Given the description of an element on the screen output the (x, y) to click on. 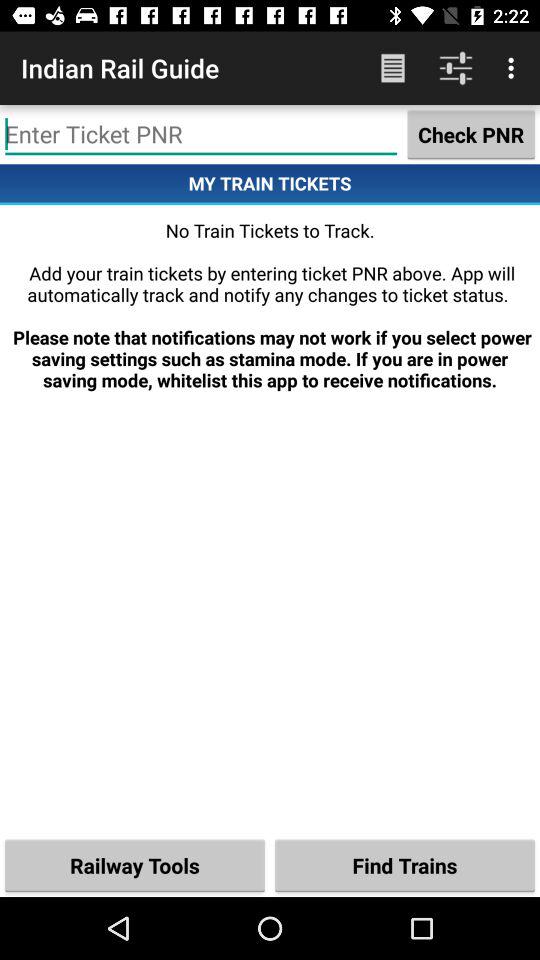
click the icon next to the railway tools icon (405, 864)
